Given the description of an element on the screen output the (x, y) to click on. 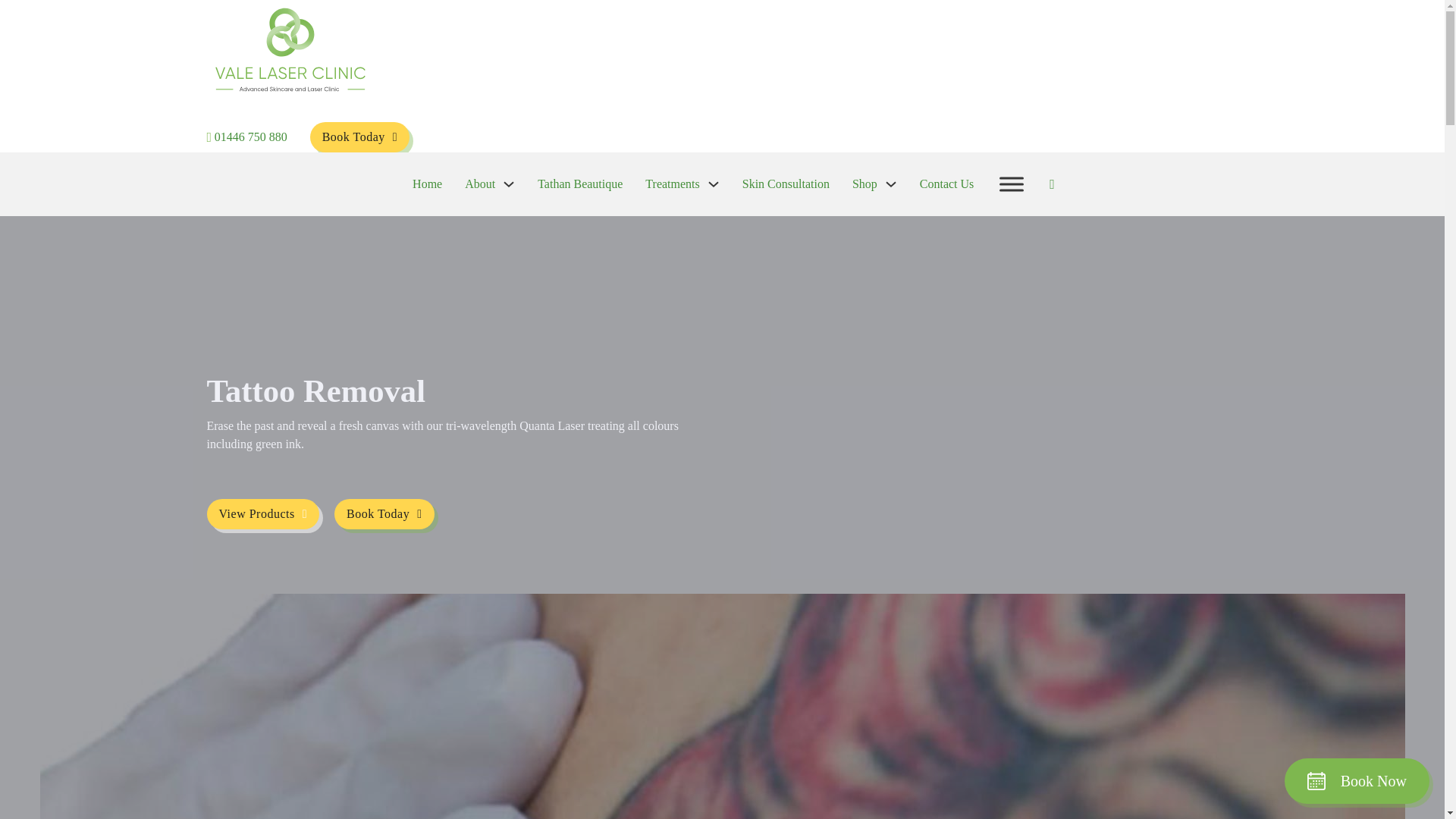
Contact Us (947, 184)
Skin Consultation (785, 184)
Book Today (359, 137)
Treatments (671, 184)
Tathan Beautique (580, 184)
Home (427, 184)
01446 750 880 (250, 136)
Shop (864, 184)
About (479, 184)
